Given the description of an element on the screen output the (x, y) to click on. 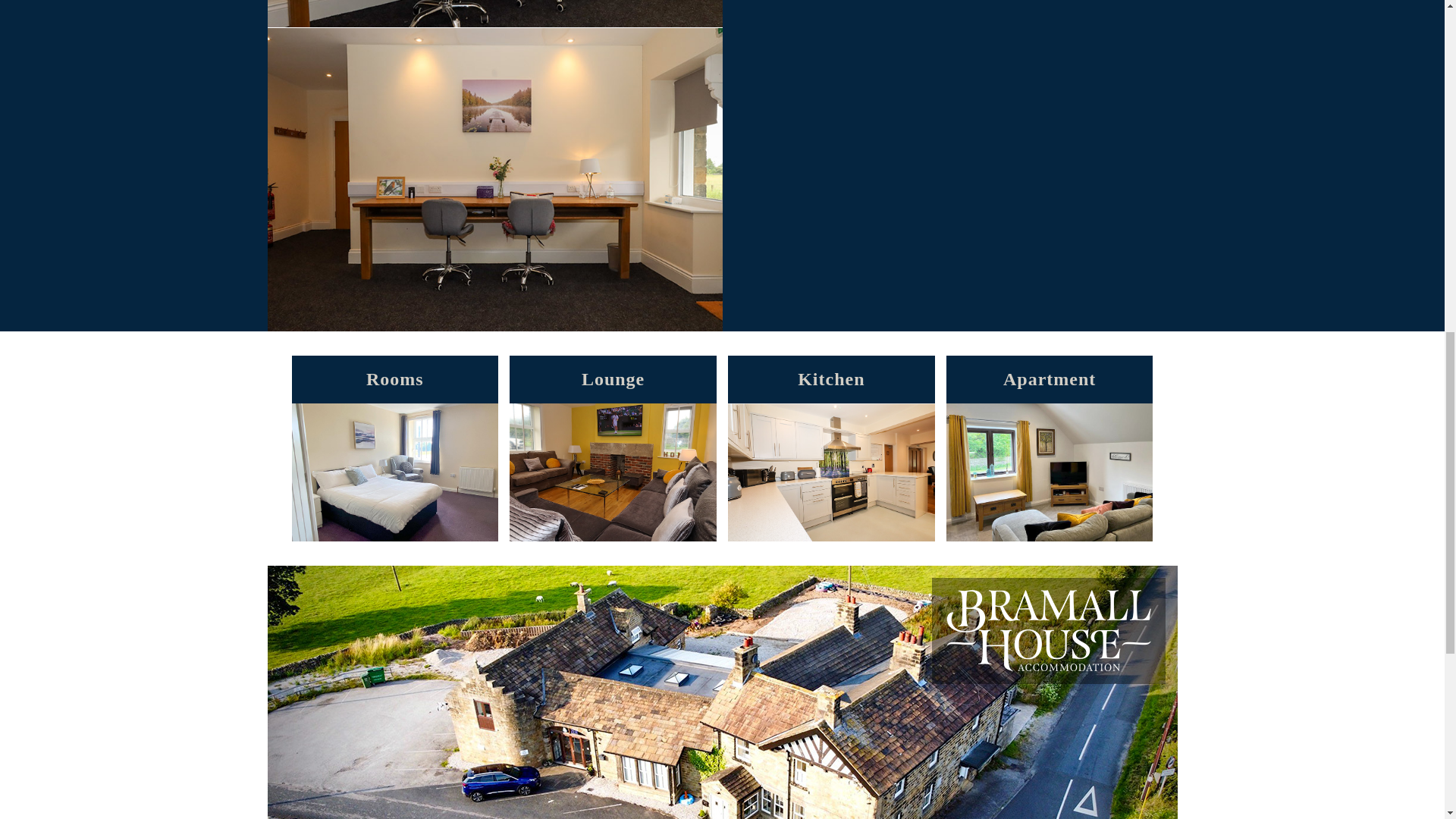
Apartment (1049, 448)
Rooms (394, 448)
Lounge (612, 448)
Kitchen (831, 448)
